Given the description of an element on the screen output the (x, y) to click on. 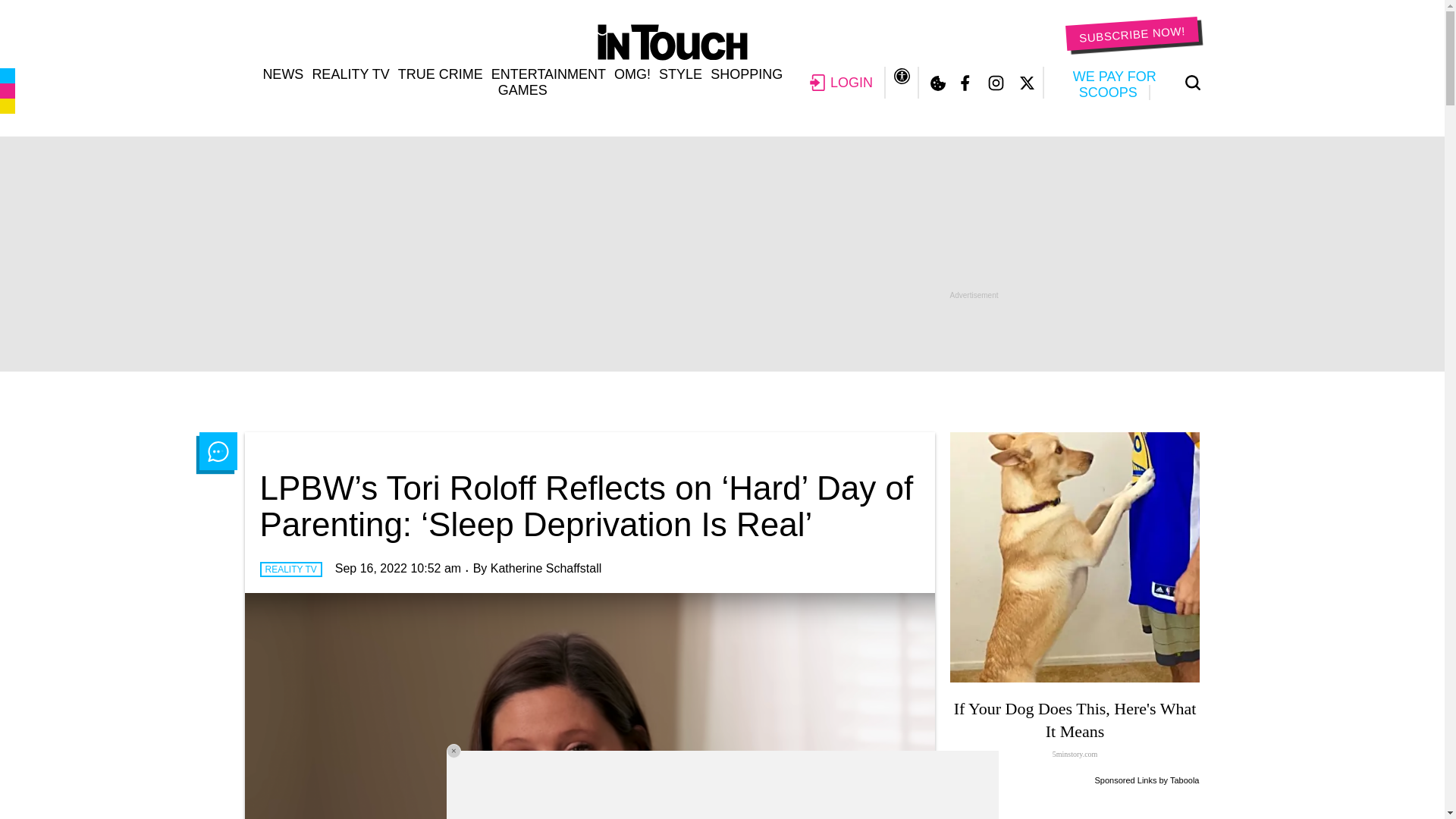
If Your Dog Does This, Here's What It Means (1074, 731)
Google Ad - 3 (1074, 803)
Posts by Katherine Schaffstall (545, 567)
Google Ad - 1 (721, 254)
If Your Dog Does This, Here's What It Means (1074, 557)
